Given the description of an element on the screen output the (x, y) to click on. 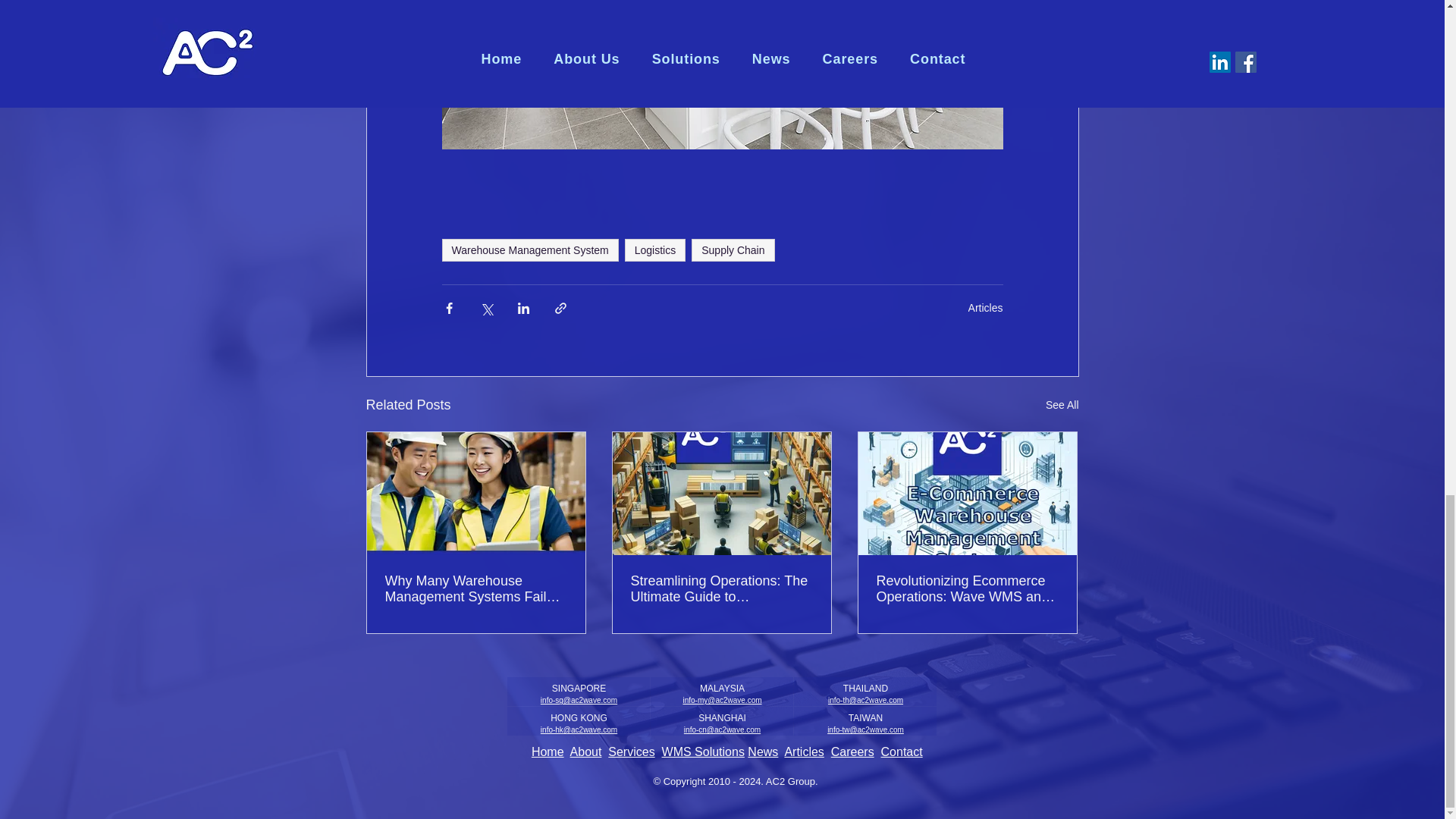
Supply Chain (732, 250)
Home (547, 751)
About (586, 751)
Logistics (654, 250)
WMS Solutions (703, 751)
Services (630, 751)
News (762, 751)
